Given the description of an element on the screen output the (x, y) to click on. 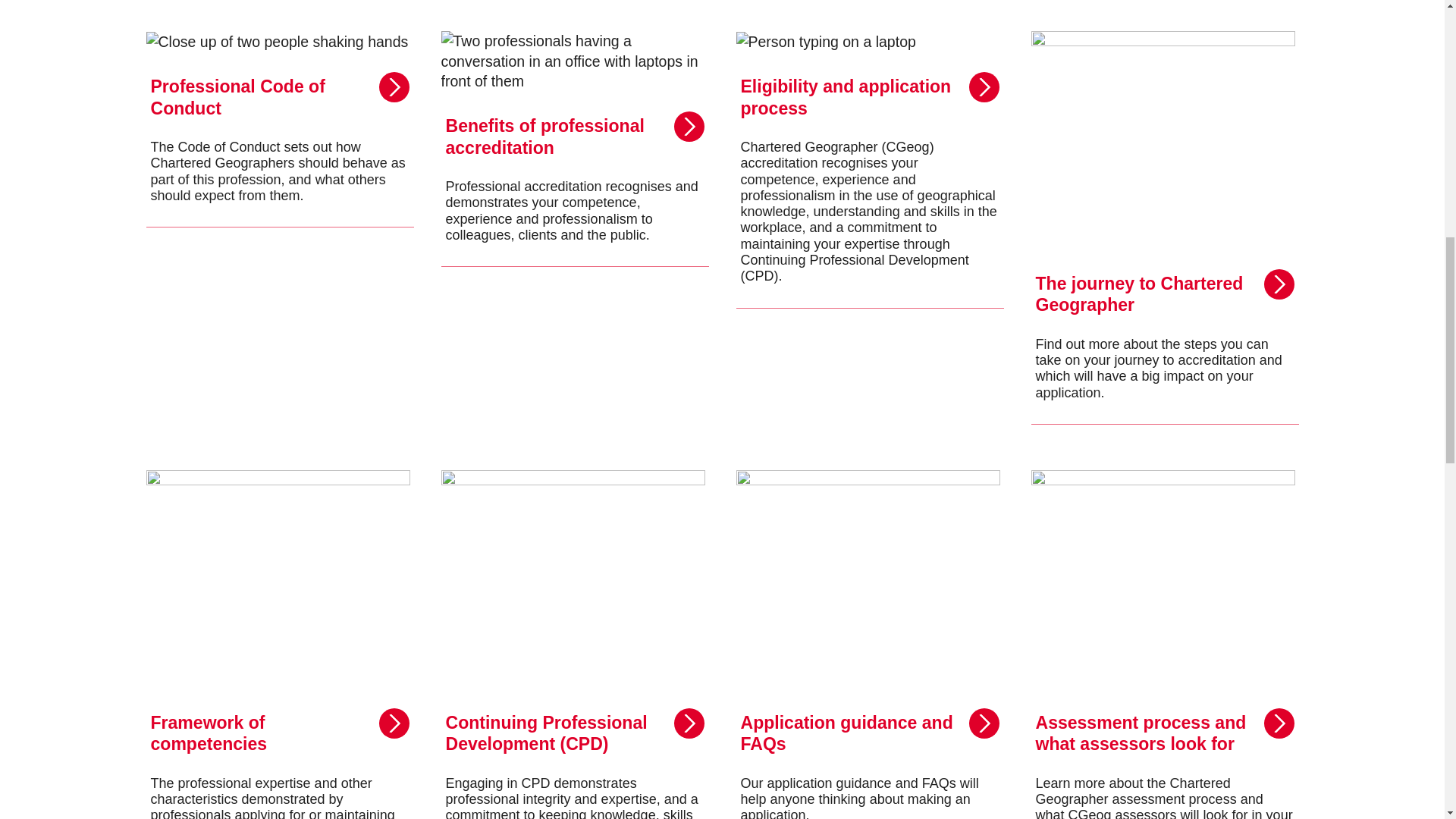
Assessment process and what assessors look for (1164, 644)
Professional Code of Conduct (279, 228)
 The journey to Chartered Geographer (1164, 228)
Eligibility and application process (869, 228)
Application guidance and FAQs (869, 644)
Framework of competencies (279, 644)
Benefits of professional accreditation (575, 228)
